Given the description of an element on the screen output the (x, y) to click on. 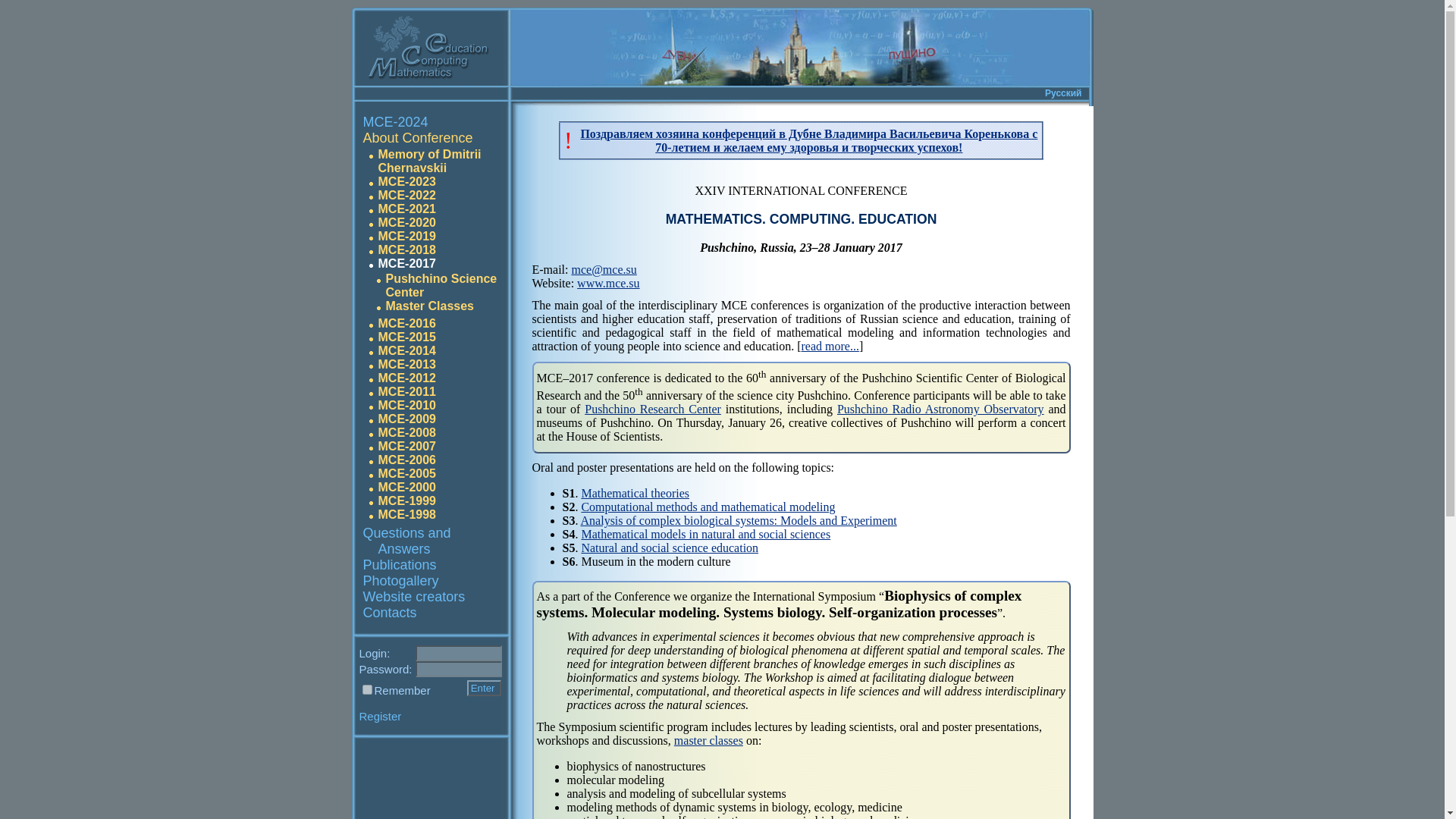
Memory of Dmitrii Chernavskii (428, 161)
MCE-2013 (406, 364)
Website creators (413, 596)
Contacts (389, 612)
MCE-2023 (406, 181)
Pushchino Science Center (440, 284)
Pushchino Science Center (440, 284)
MCE-2012 (406, 377)
MCE-2000 (406, 486)
MCE-2024 (395, 121)
Mathematics. Computing. Education (416, 137)
Memory of Dmitrii Chernavskii (428, 161)
MCE-2011 (406, 391)
Register (380, 716)
Enter (483, 688)
